Given the description of an element on the screen output the (x, y) to click on. 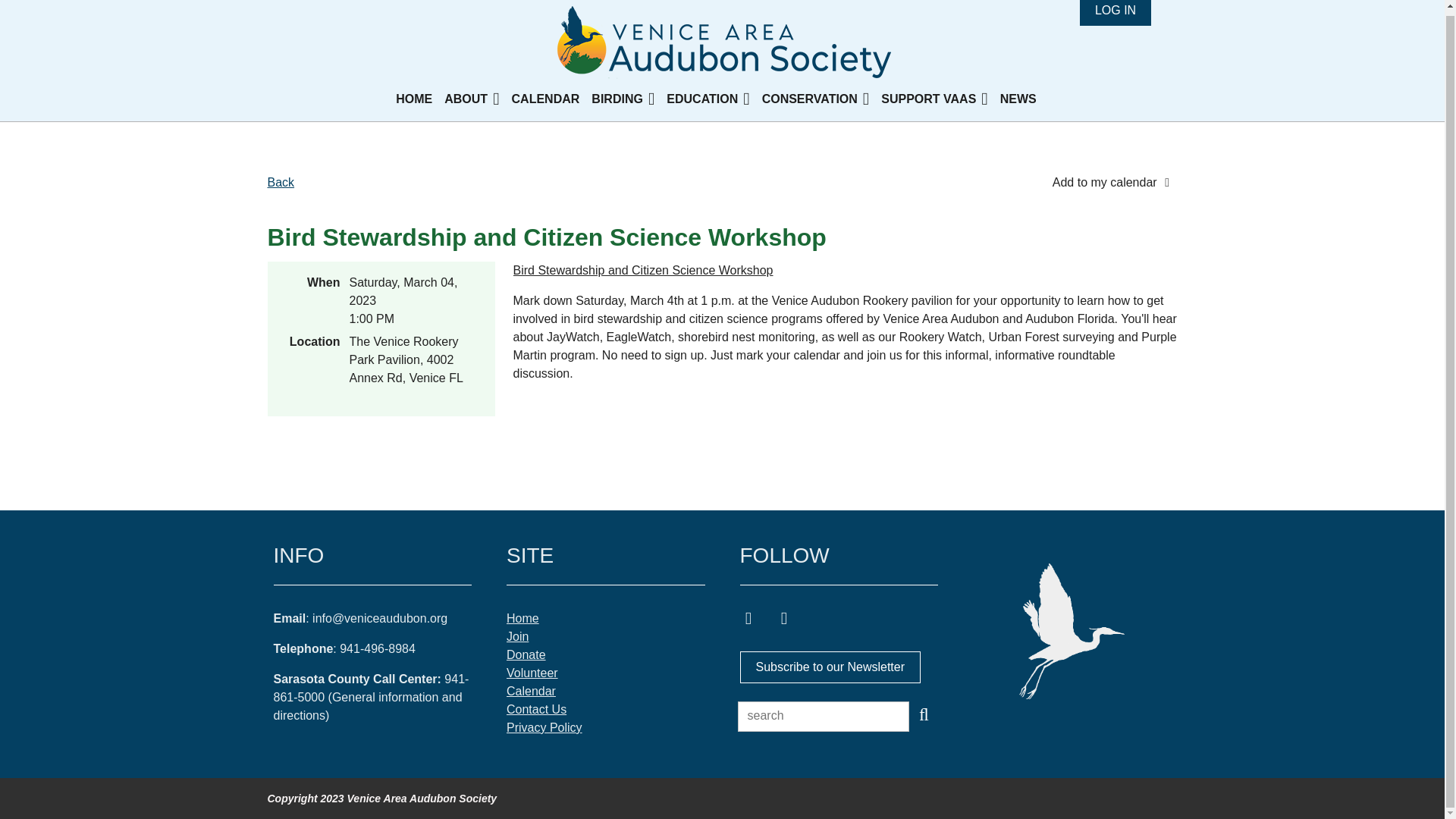
ABOUT (477, 98)
HOME (420, 98)
LOG IN (1115, 12)
